Given the description of an element on the screen output the (x, y) to click on. 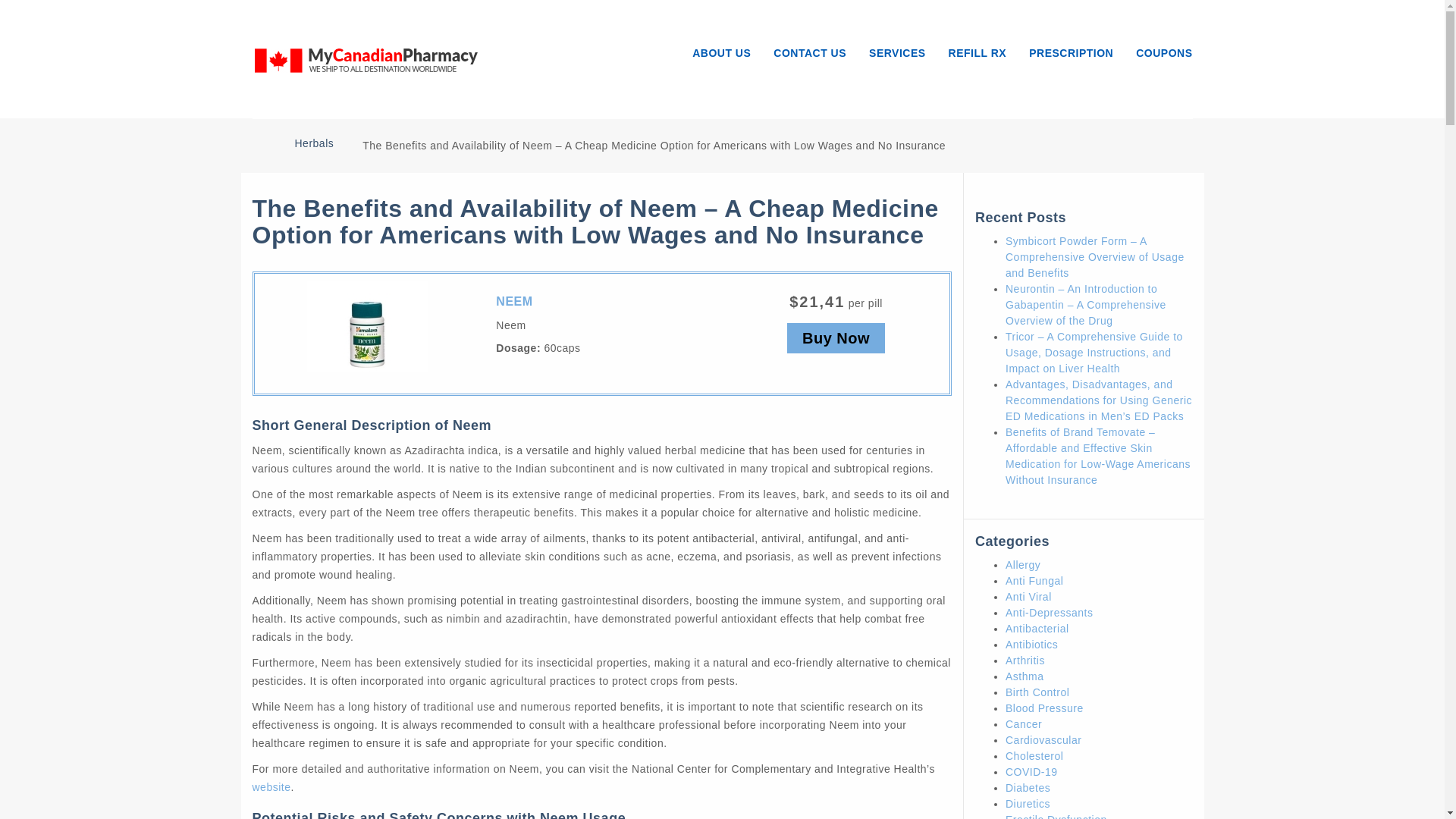
Asthma (1024, 676)
My Canadian Pharmacy Provides HealthCare Means (365, 58)
Go to the Herbals category archives. (313, 143)
Anti-Depressants (1049, 612)
Herbals (313, 143)
Go to My Canadian Pharmacy Provides HealthCare Means. (257, 141)
Antibiotics (1032, 644)
Anti Fungal (1034, 580)
website (270, 787)
Allergy (1023, 564)
